Given the description of an element on the screen output the (x, y) to click on. 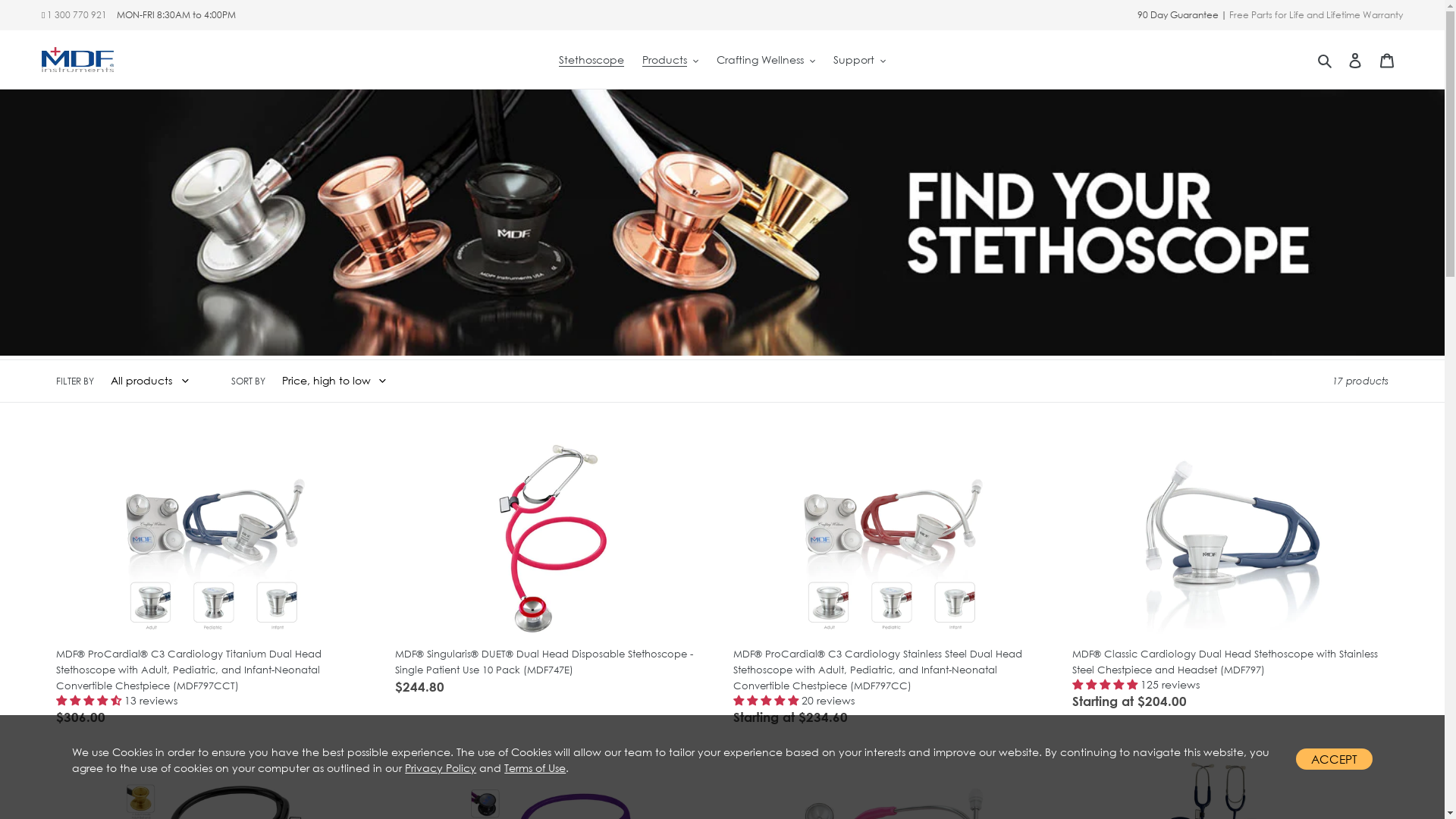
Support Element type: text (859, 59)
Terms of Use Element type: text (534, 767)
Log in Element type: text (1355, 59)
Privacy Policy Element type: text (440, 767)
Stethoscope Element type: text (591, 59)
1 300 770 921 Element type: text (76, 14)
Free Parts for Life and Lifetime Warranty Element type: text (1315, 14)
Cart Element type: text (1386, 59)
Products Element type: text (670, 59)
ACCEPT Element type: text (1333, 758)
Search Element type: text (1325, 59)
Crafting Wellness Element type: text (765, 59)
